Given the description of an element on the screen output the (x, y) to click on. 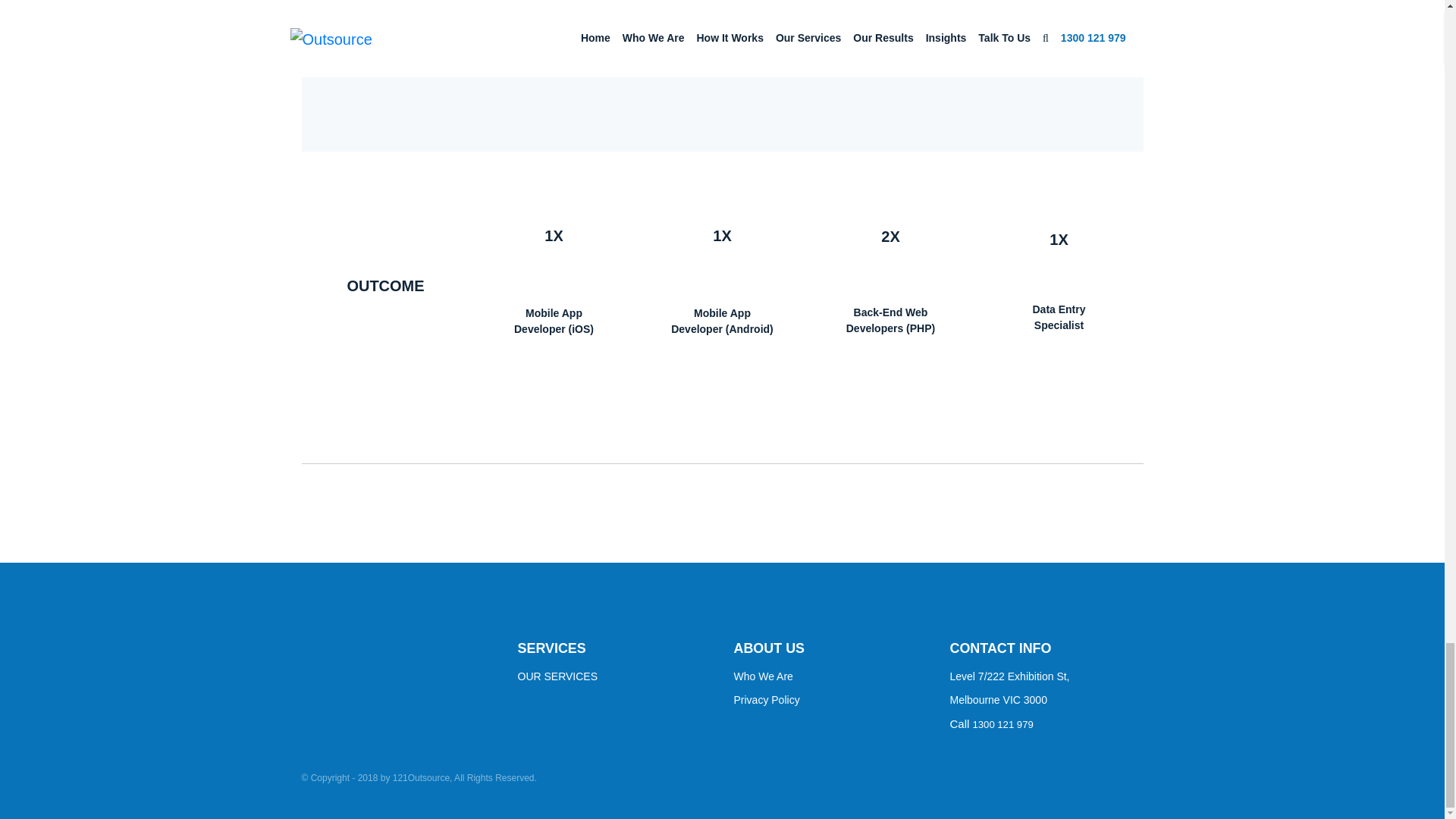
Privacy Policy (830, 699)
Who We Are (830, 676)
OUR SERVICES (613, 676)
1300 121 979 (1002, 723)
